Given the description of an element on the screen output the (x, y) to click on. 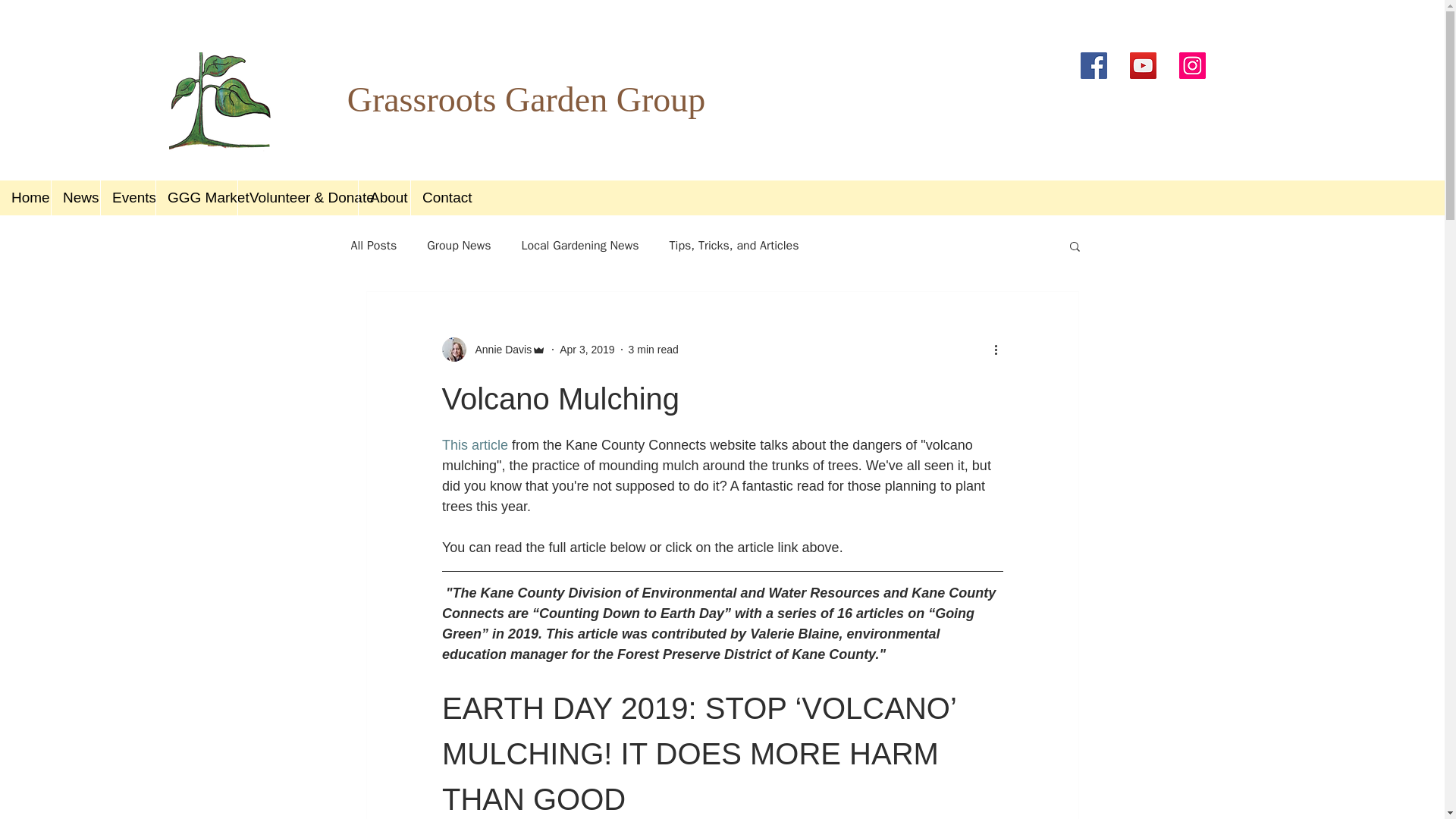
Group News (458, 245)
Local Gardening News (580, 245)
Events (127, 197)
This article (473, 444)
All Posts (373, 245)
3 min read (653, 348)
GGG Market (196, 197)
Annie Davis (498, 349)
Contact (440, 197)
Apr 3, 2019 (586, 348)
About (384, 197)
Tips, Tricks, and Articles (734, 245)
Annie Davis (493, 349)
News (75, 197)
Home (25, 197)
